Given the description of an element on the screen output the (x, y) to click on. 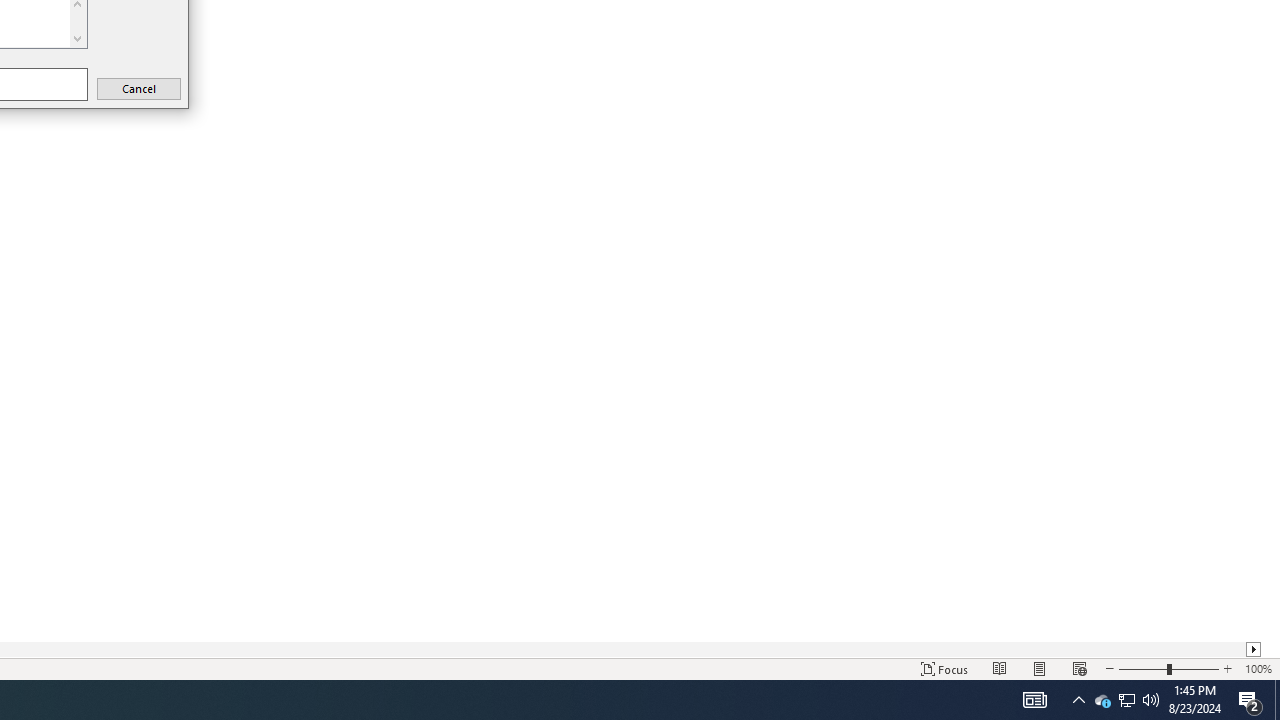
Cancel (138, 88)
Zoom 100% (1258, 668)
